Given the description of an element on the screen output the (x, y) to click on. 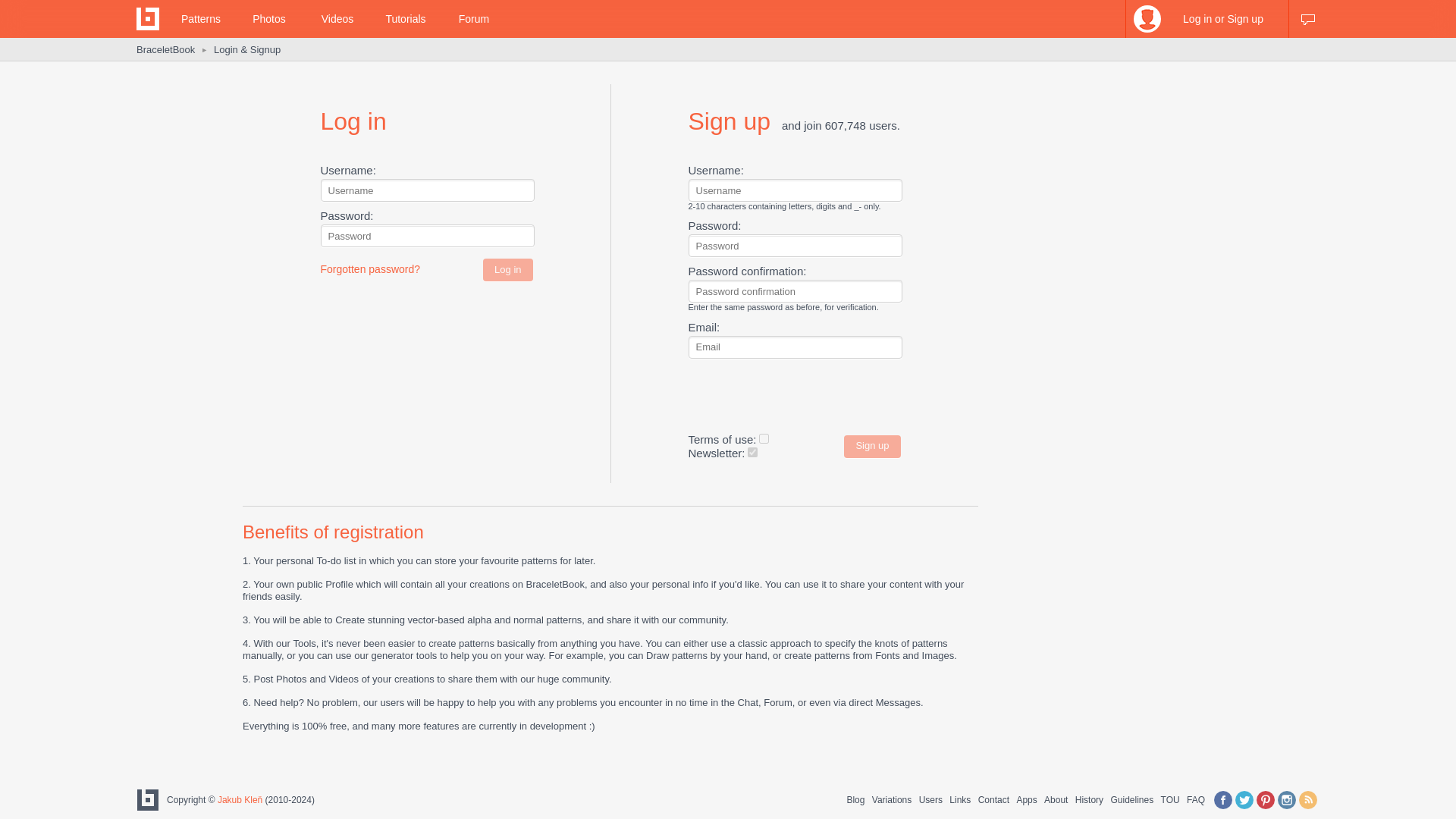
Sign up (871, 445)
Forum (473, 18)
Guidelines (1131, 799)
Log in (507, 269)
BraceletBook (165, 49)
Blog (854, 799)
Contact (993, 799)
Videos (336, 18)
Log in (507, 269)
Users (930, 799)
Tutorials (405, 18)
Log in (1207, 74)
Chat (1307, 18)
Log in or Sign up (1206, 18)
FAQ (1195, 799)
